Given the description of an element on the screen output the (x, y) to click on. 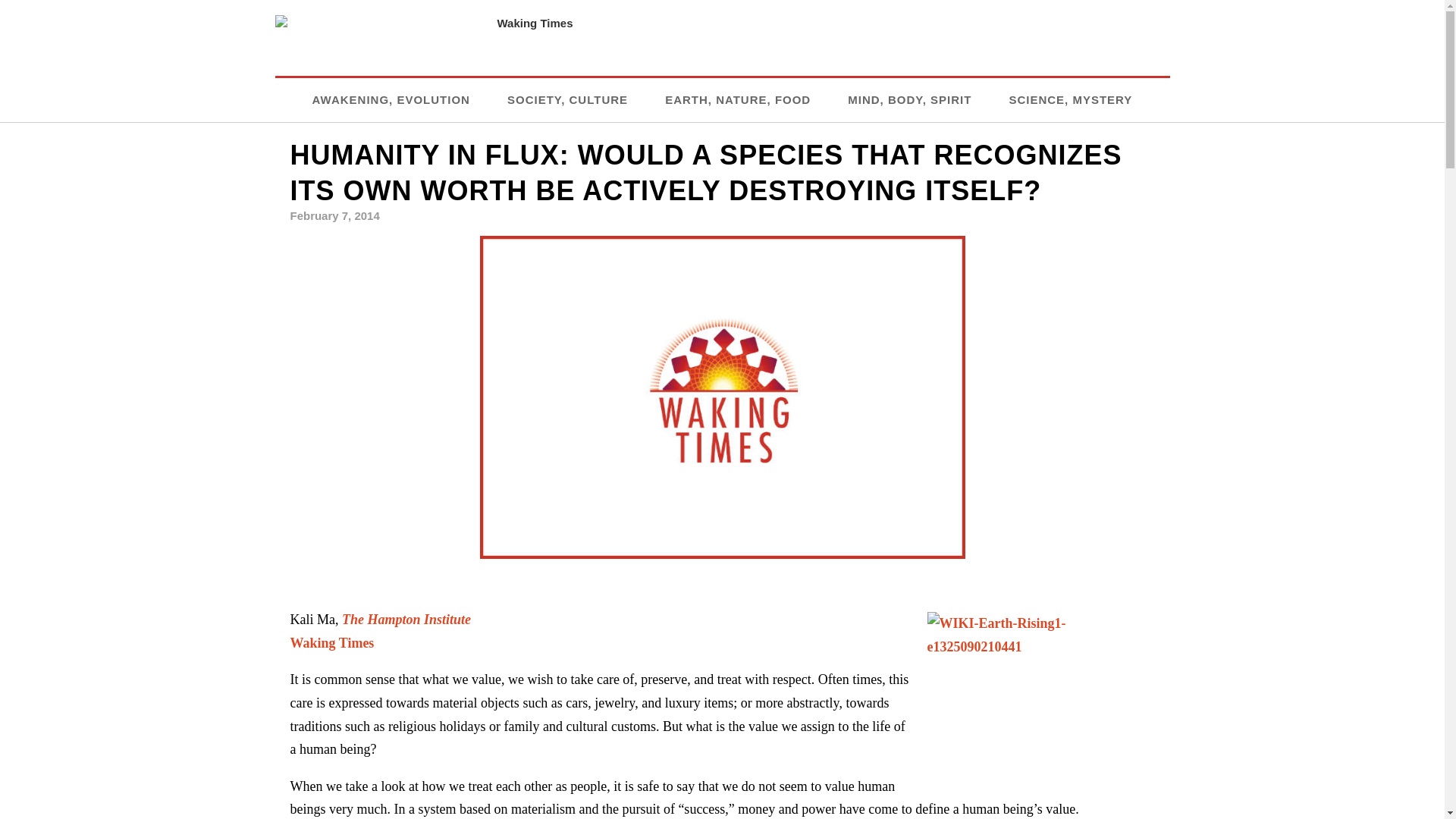
EARTH, NATURE, FOOD (737, 99)
The Hampton Institute (406, 619)
SOCIETY, CULTURE (566, 99)
SCIENCE, MYSTERY (1070, 99)
Waking Times (331, 642)
AWAKENING, EVOLUTION (391, 99)
MIND, BODY, SPIRIT (909, 99)
